Given the description of an element on the screen output the (x, y) to click on. 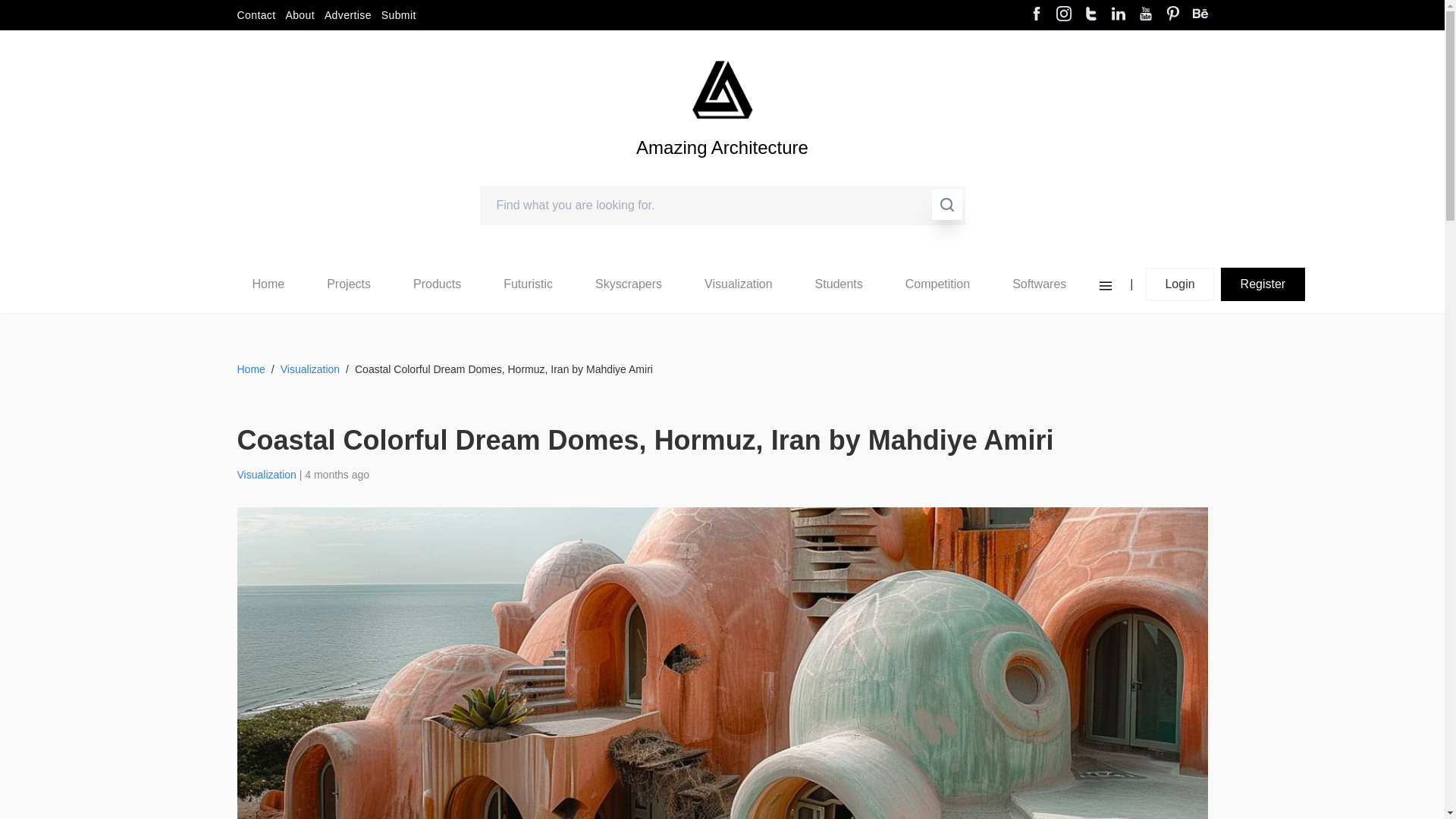
Amazing Architecture (722, 173)
Futuristic (528, 283)
About (299, 15)
About us page (299, 15)
Skyscrapers (628, 283)
Contact us page (255, 15)
Home (267, 284)
Projects (348, 284)
Advertisement page (347, 15)
Home (267, 283)
Advertise (347, 15)
Contact (255, 15)
Amazing Architecture (722, 173)
Submit page (398, 15)
Products (437, 283)
